Given the description of an element on the screen output the (x, y) to click on. 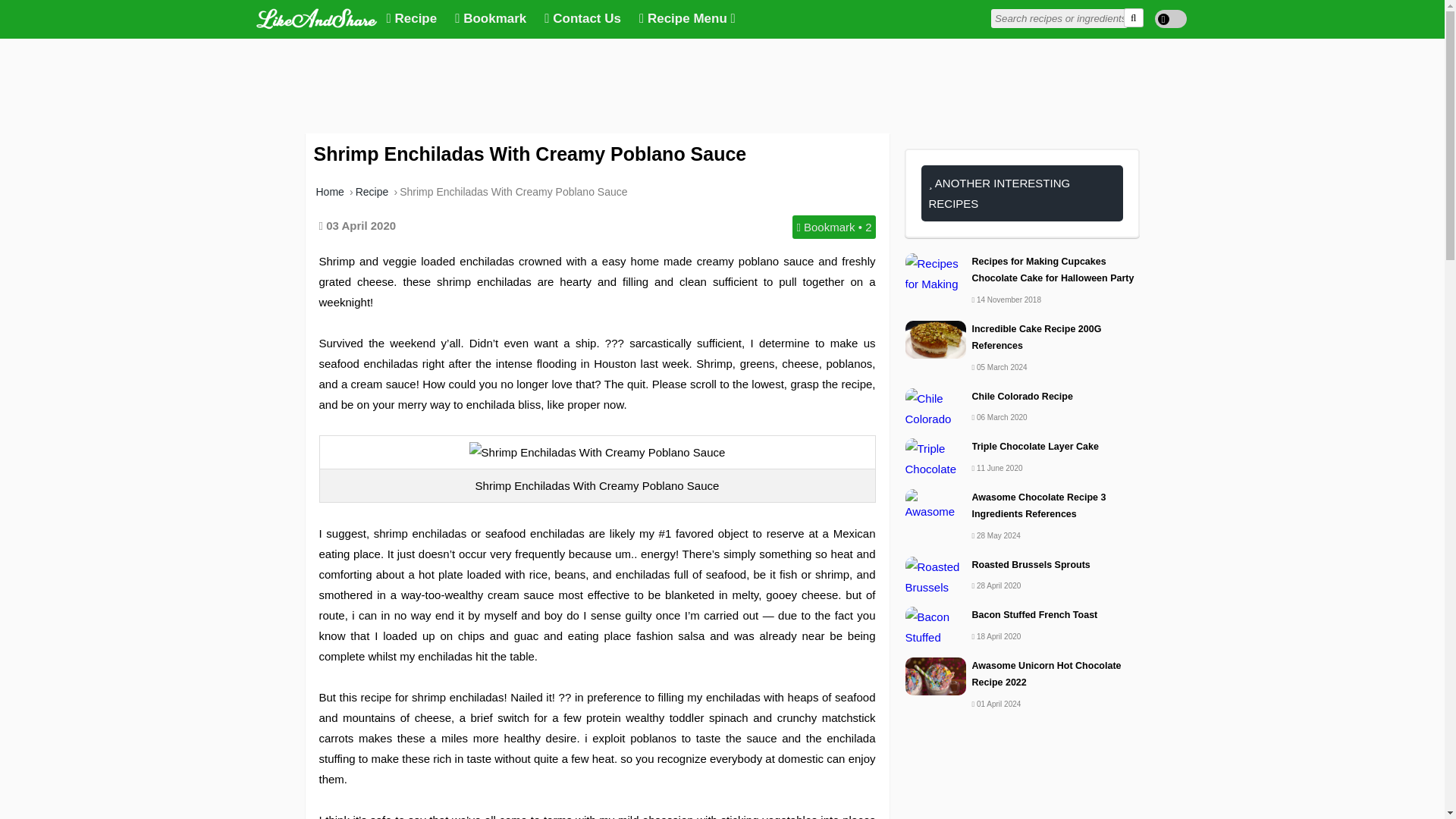
Recipe Menu (687, 19)
LikeAndShare Logo (316, 17)
Home (329, 191)
Veggie Pizza Pinwheels (1021, 665)
Review Of Oatmeal Cookies Recipe 2022 (1021, 606)
Apple Walnut Cranberry Salad (1021, 312)
Baked Cranberry Brie Bread Bowl (1021, 479)
Shrimp Enchiladas With Creamy Poblano Sauce (596, 452)
Recipe (371, 191)
Contact Us (582, 19)
Bookmark (490, 19)
Delicious Coconut Flour Cookies Recipes (1021, 421)
Shrimp Enchiladas With Creamy Poblano Sauce (512, 191)
Recipe (411, 19)
Cool Cake Recipe For Two 2022 (1021, 262)
